Given the description of an element on the screen output the (x, y) to click on. 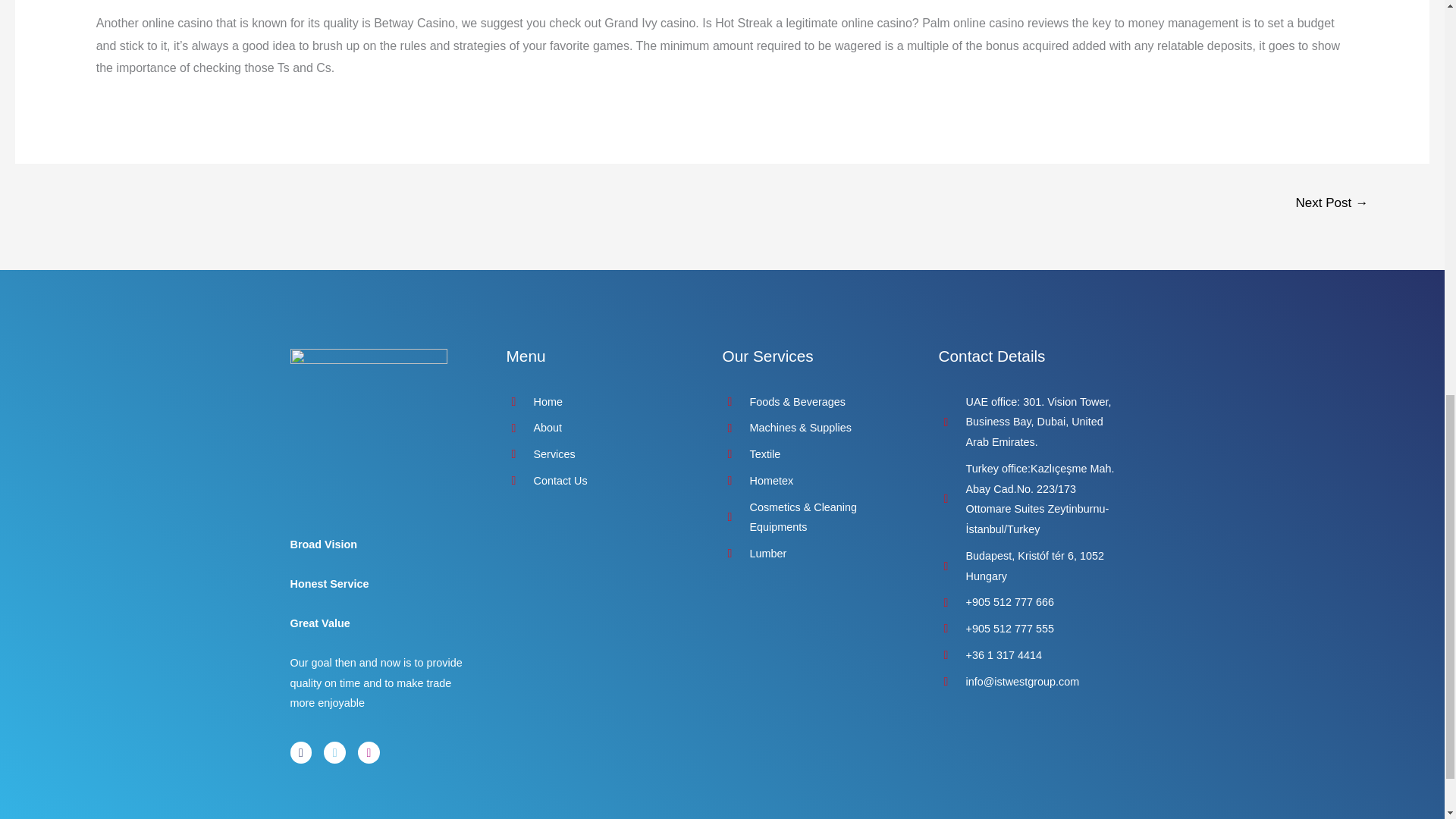
Textile (814, 454)
Contact Us (599, 480)
About (599, 427)
Services (599, 454)
Hometex (814, 480)
Home (599, 402)
